Given the description of an element on the screen output the (x, y) to click on. 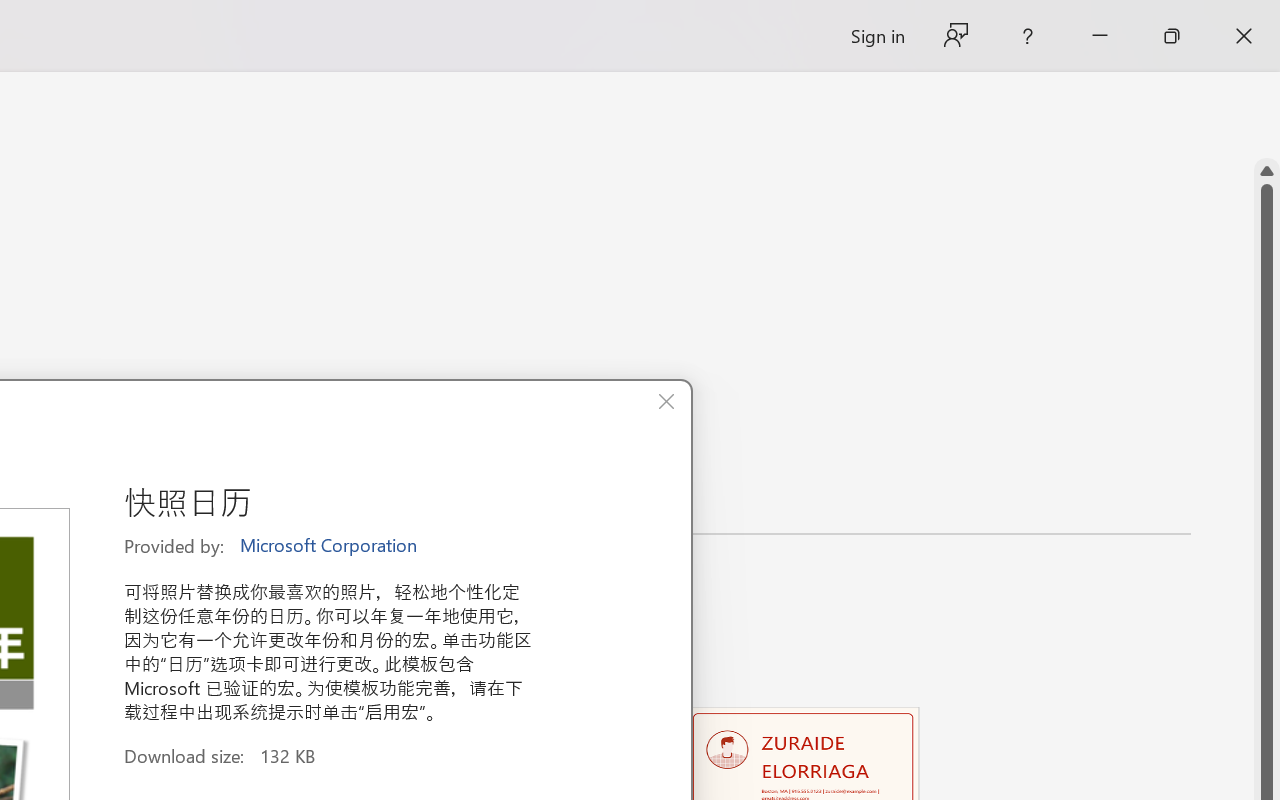
Line up (1267, 171)
Microsoft Corporation (330, 546)
